Given the description of an element on the screen output the (x, y) to click on. 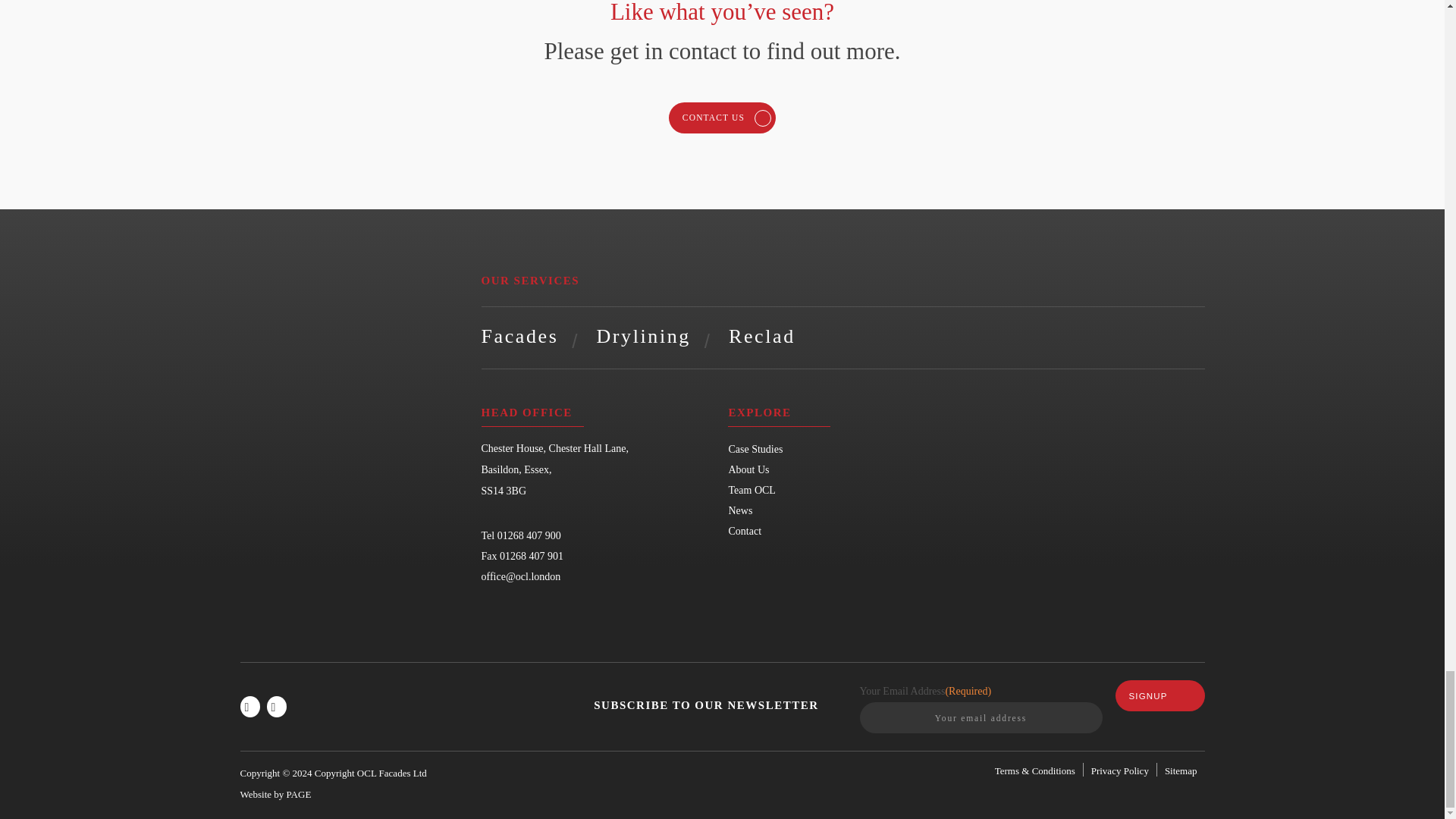
Facades (518, 336)
Drylining (642, 336)
Fax 01268 407 901 (521, 555)
Tel 01268 407 900 (520, 535)
Reclad (761, 336)
CONTACT US (722, 117)
SIGNUP (1159, 695)
